Given the description of an element on the screen output the (x, y) to click on. 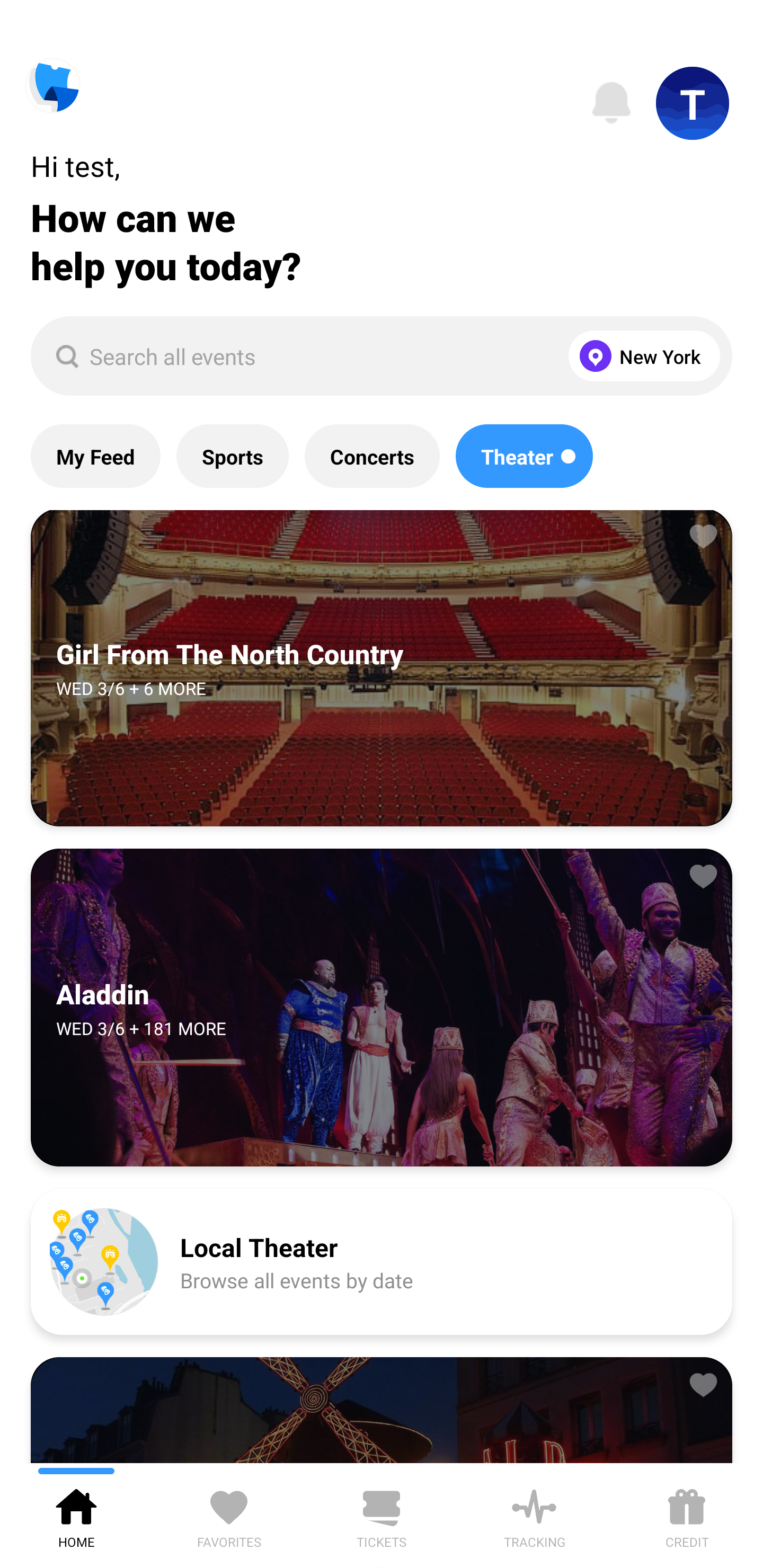
T (692, 103)
New York (640, 355)
My Feed (95, 455)
Sports (232, 455)
Concerts (371, 455)
Theater (523, 455)
HOME (76, 1515)
FAVORITES (228, 1515)
TICKETS (381, 1515)
TRACKING (533, 1515)
CREDIT (686, 1515)
